Given the description of an element on the screen output the (x, y) to click on. 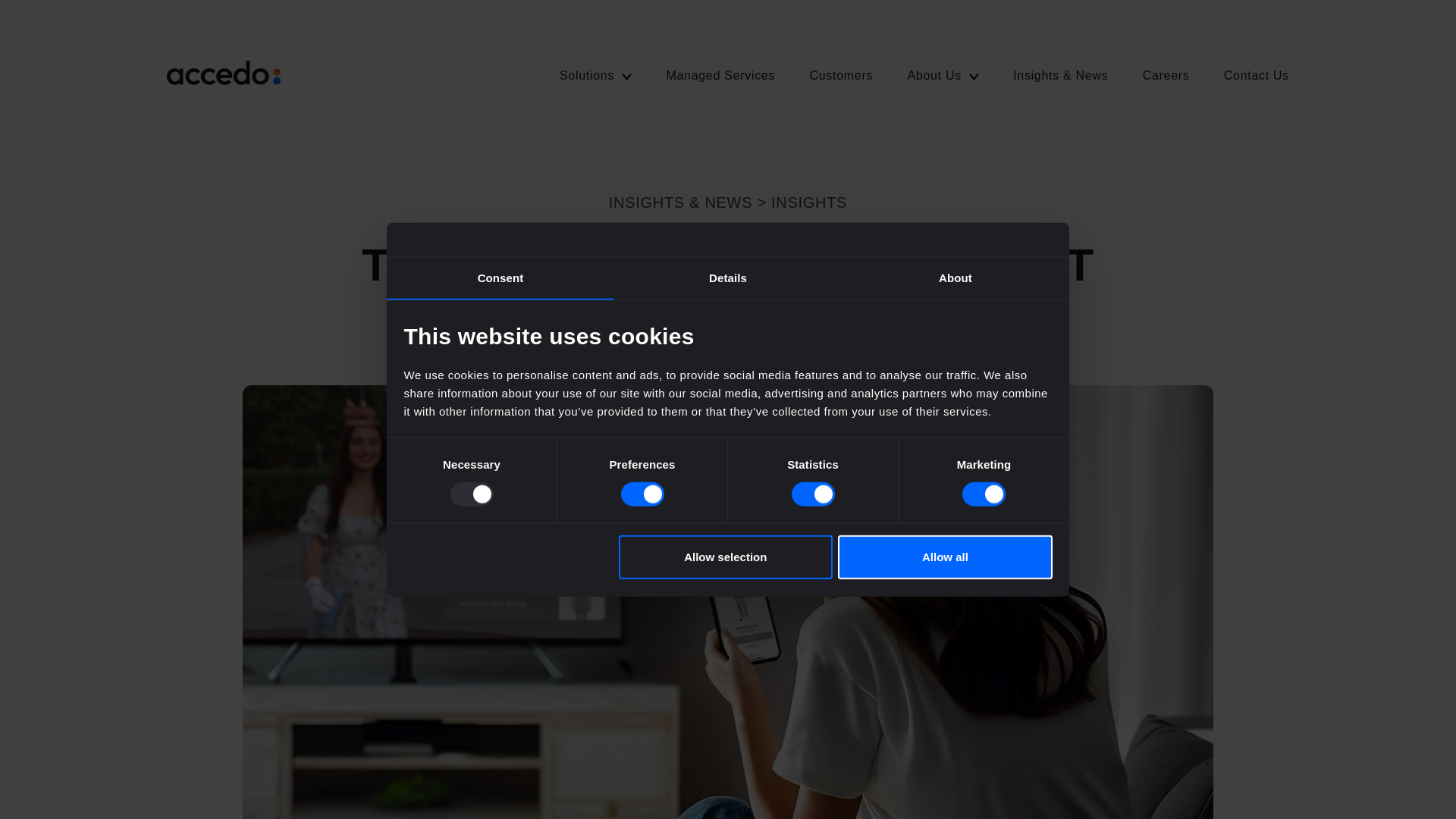
About (954, 278)
Consent (500, 278)
Details (727, 278)
